Given the description of an element on the screen output the (x, y) to click on. 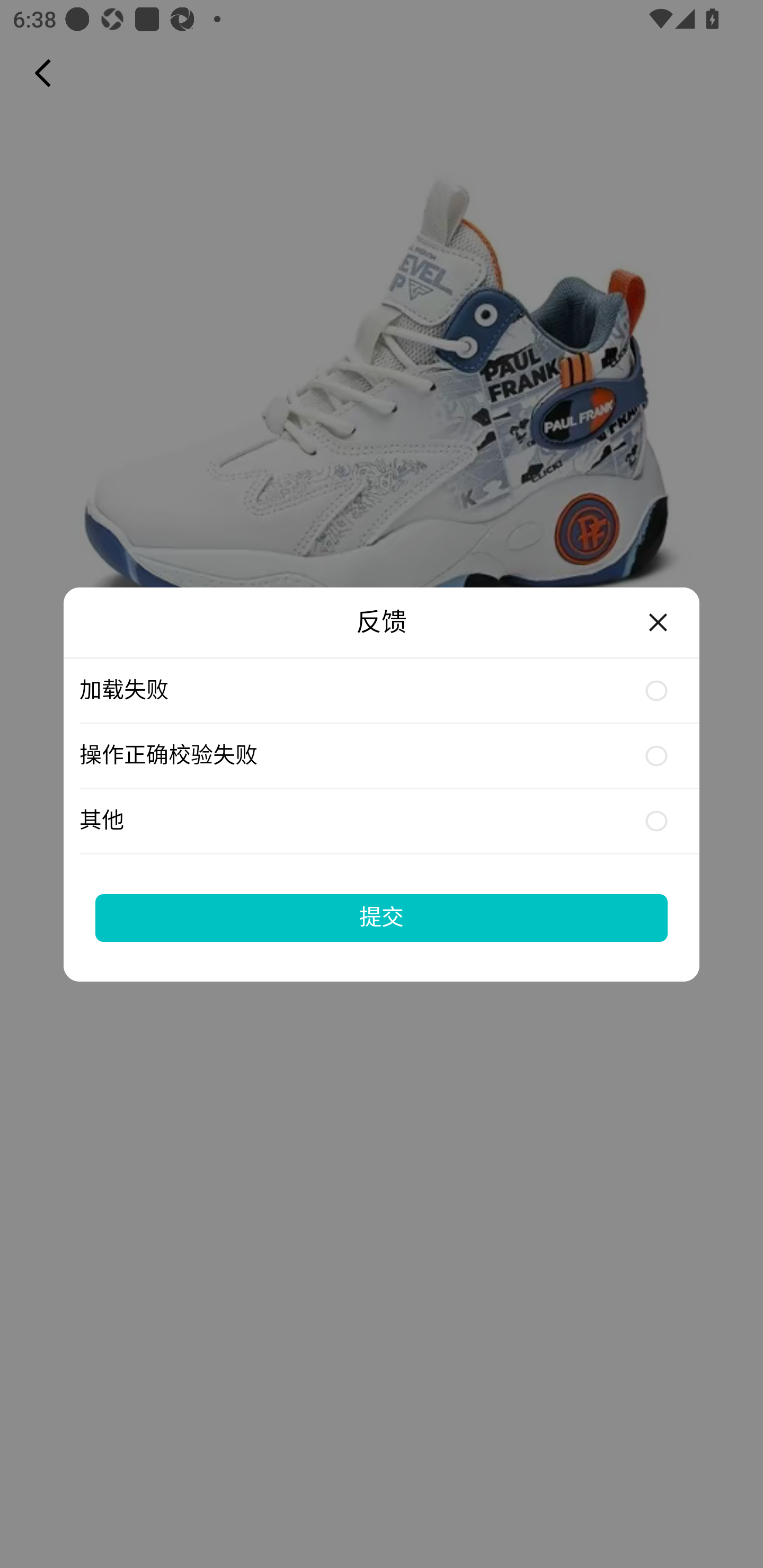
提交 (381, 917)
